Given the description of an element on the screen output the (x, y) to click on. 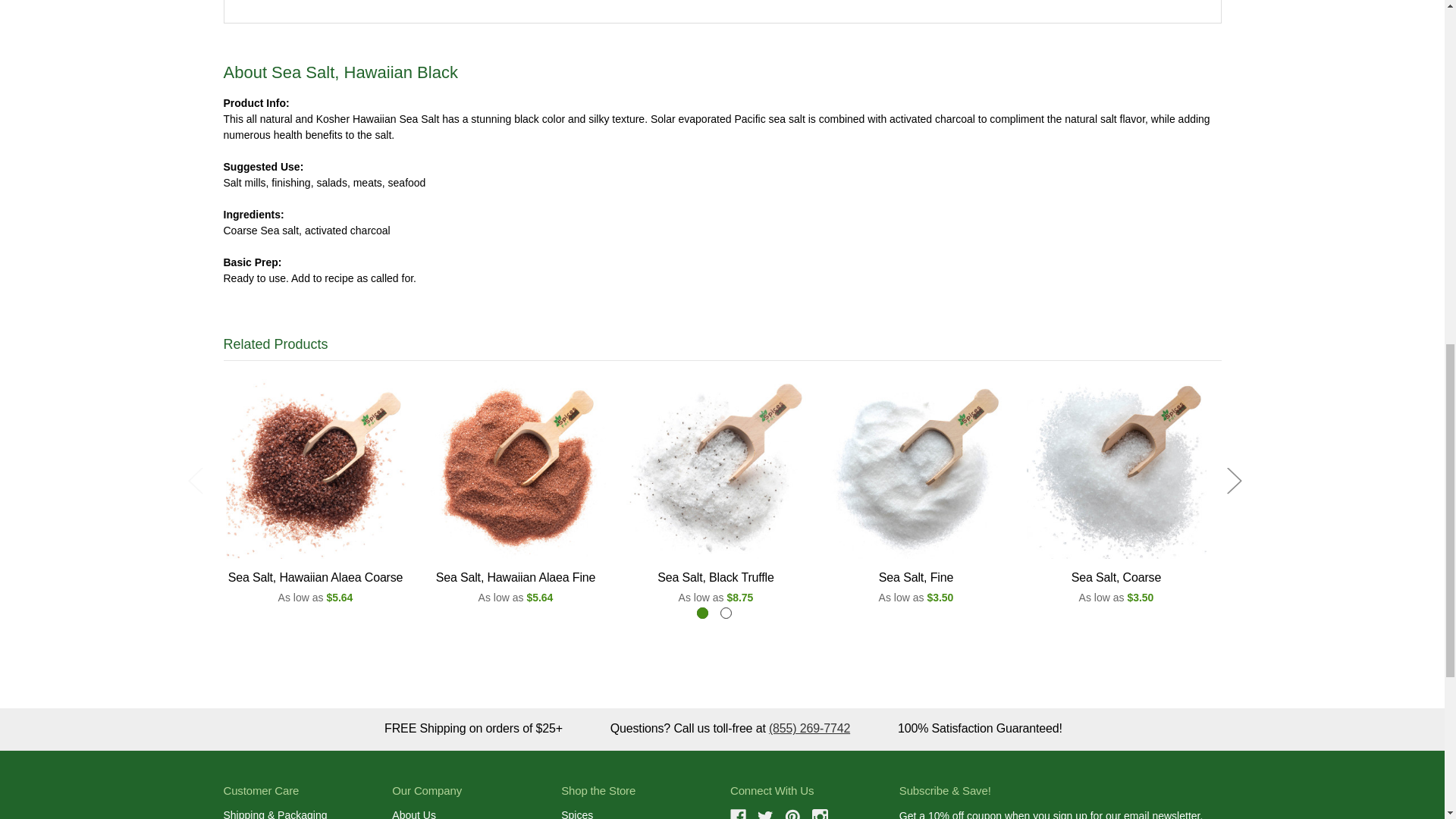
Sea Salt, Coarse (1116, 468)
Sea Salt, Black Truffle (716, 468)
Sea Salt, Fine (916, 468)
Sea Salt, Hawaiian Alaea Coarse (315, 468)
Sea Salt, Hawaiian Alaea Fine (515, 468)
